Given the description of an element on the screen output the (x, y) to click on. 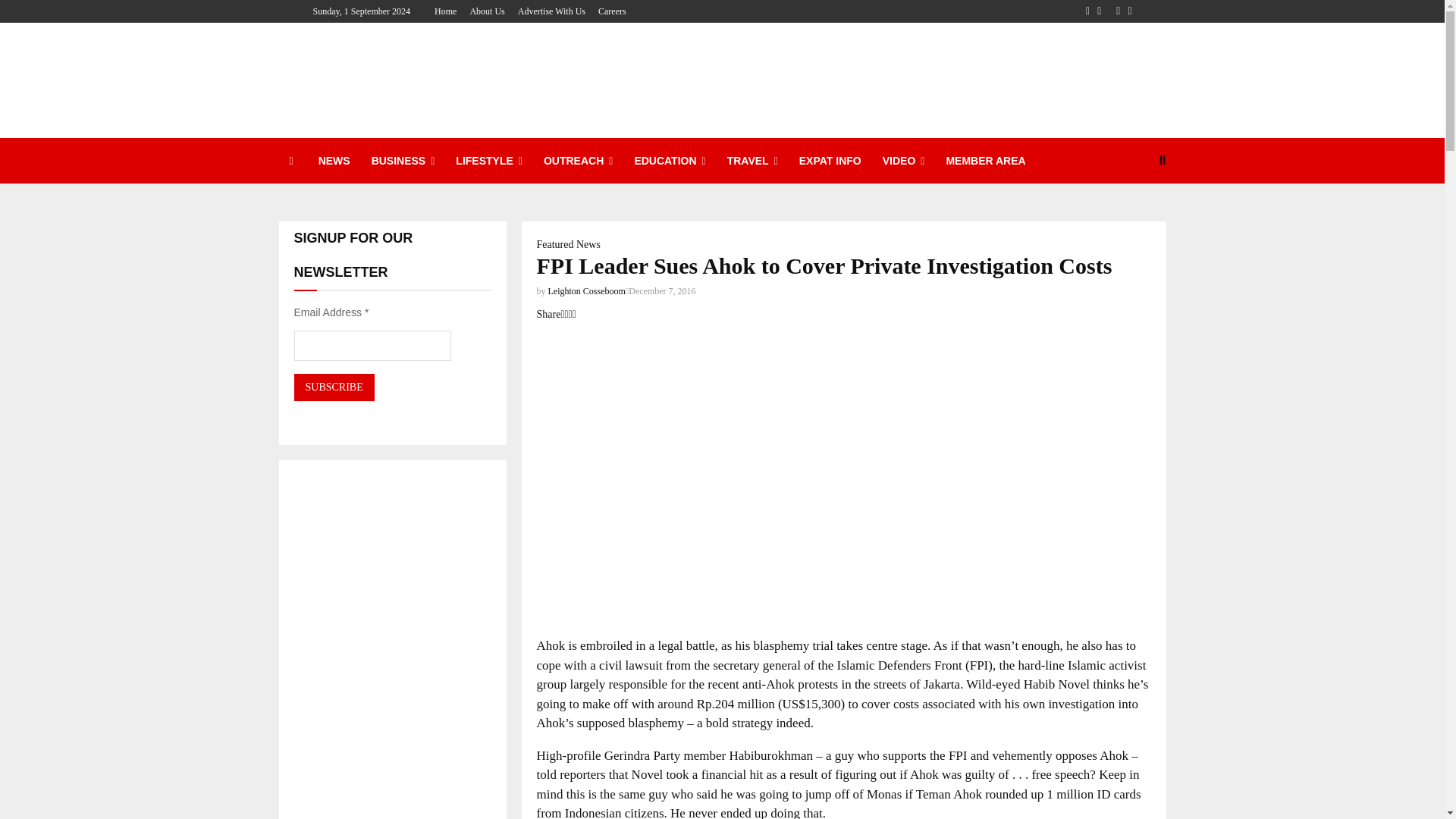
BUSINESS (403, 160)
About Us (485, 11)
MEMBER AREA (984, 160)
Advertise With Us (551, 11)
EDUCATION (669, 160)
VIDEO (904, 160)
TRAVEL (752, 160)
OUTREACH (577, 160)
EXPAT INFO (830, 160)
LIFESTYLE (488, 160)
